Given the description of an element on the screen output the (x, y) to click on. 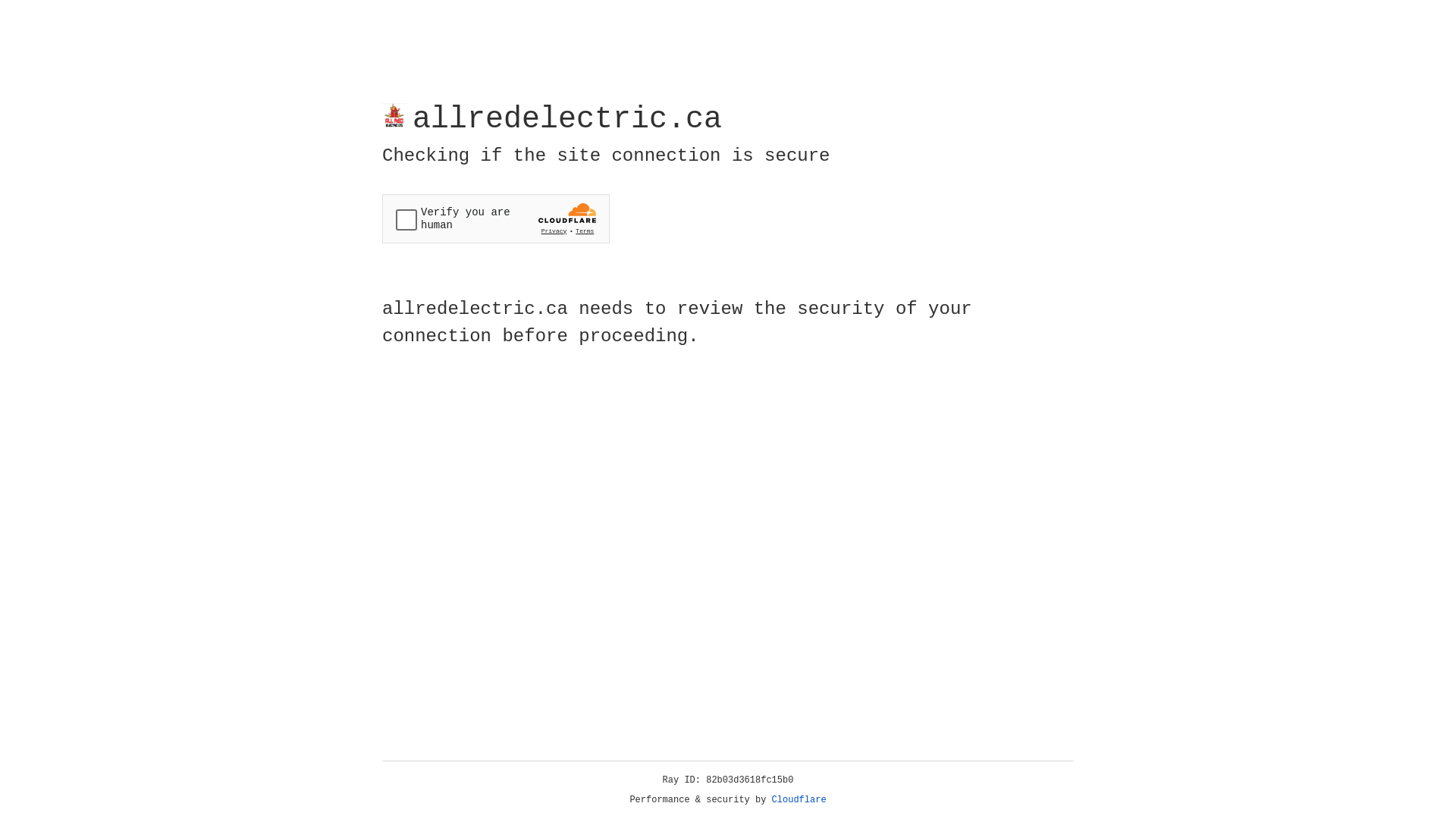
Cloudflare Element type: text (798, 799)
Widget containing a Cloudflare security challenge Element type: hover (495, 218)
